Given the description of an element on the screen output the (x, y) to click on. 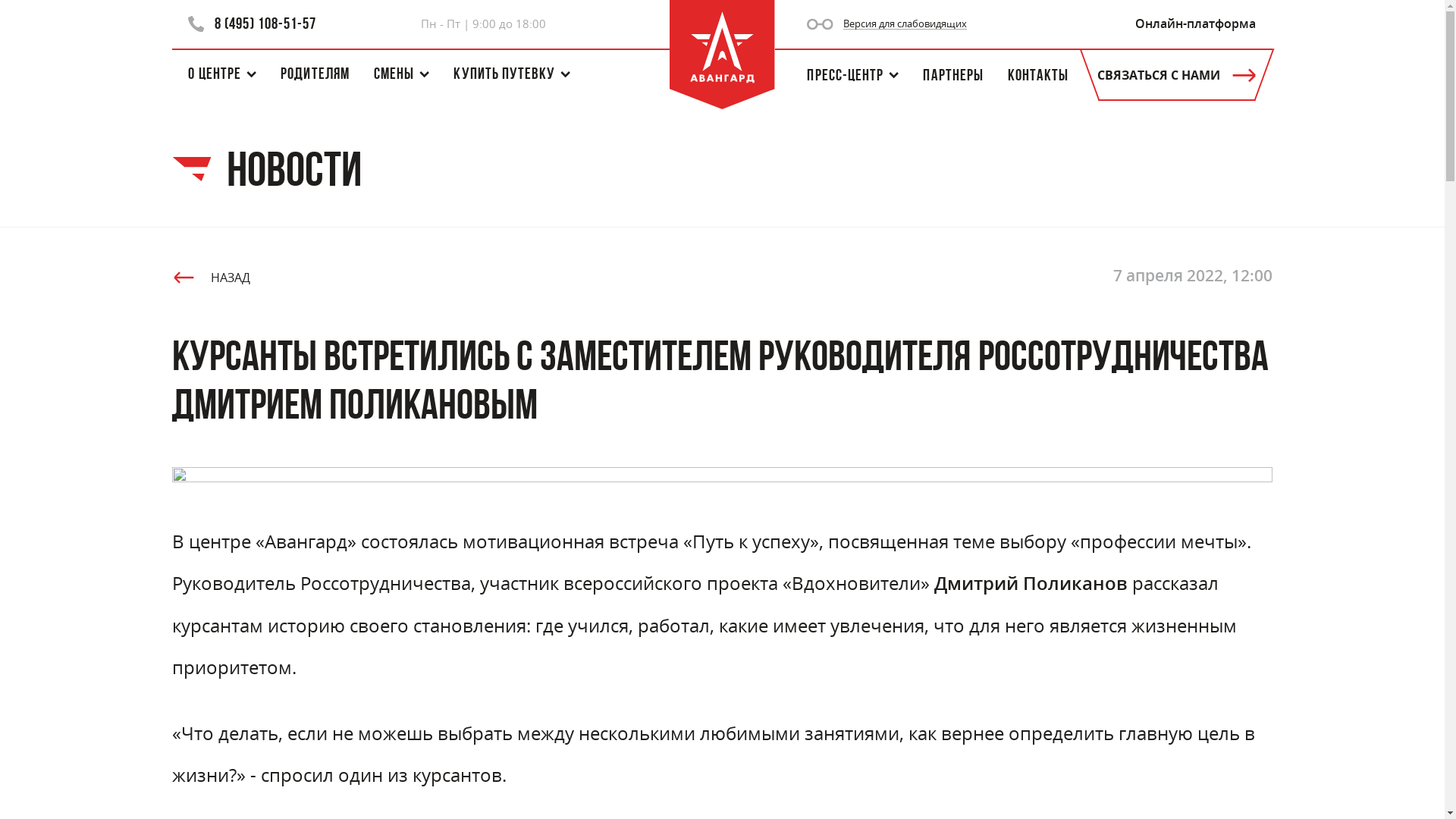
8 (495) 108-51-57 Element type: text (252, 23)
